Given the description of an element on the screen output the (x, y) to click on. 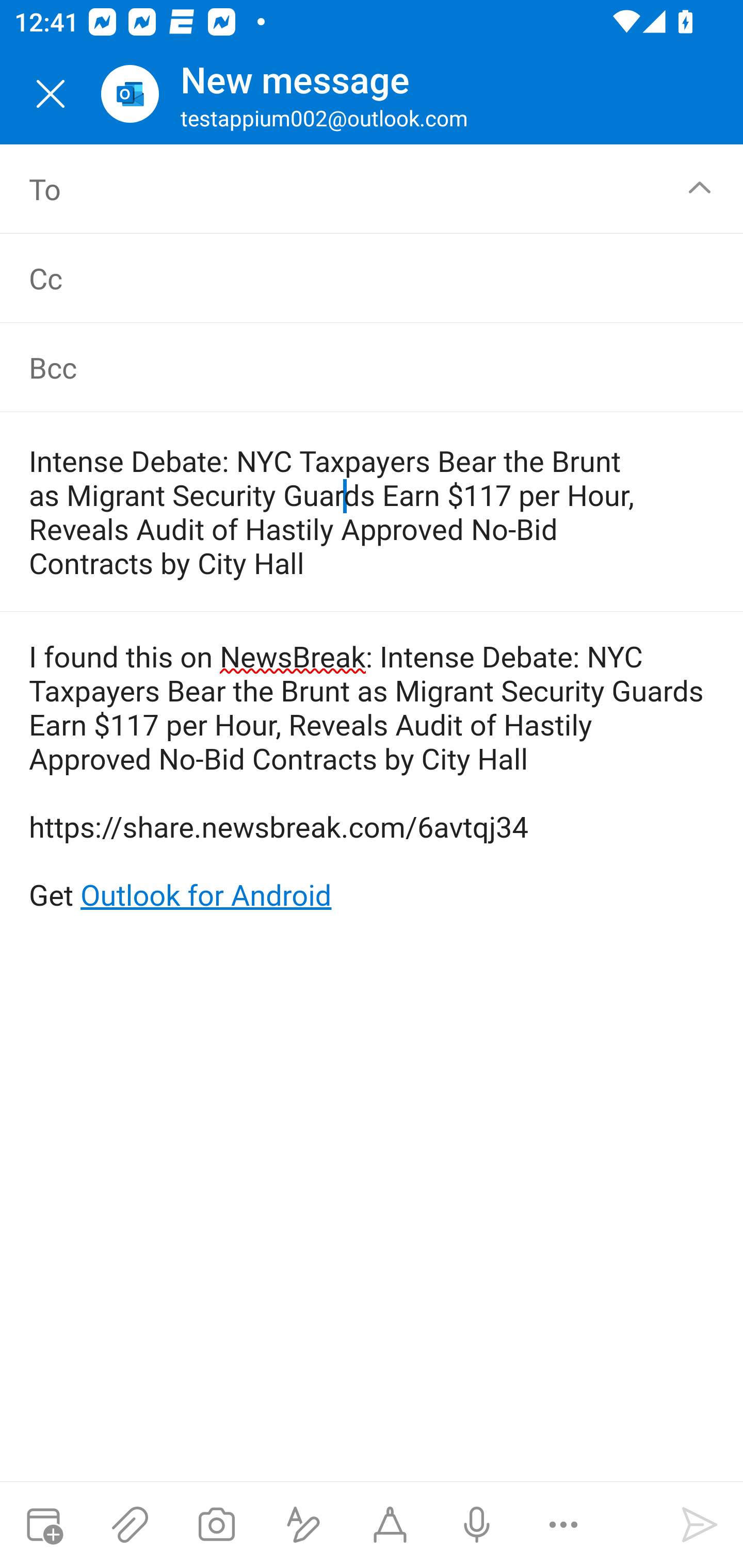
Close (50, 93)
Attach meeting (43, 1524)
Attach files (129, 1524)
Take a photo (216, 1524)
Show formatting options (303, 1524)
Start Ink compose (389, 1524)
Dictation (476, 1524)
More options (563, 1524)
Send (699, 1524)
